Given the description of an element on the screen output the (x, y) to click on. 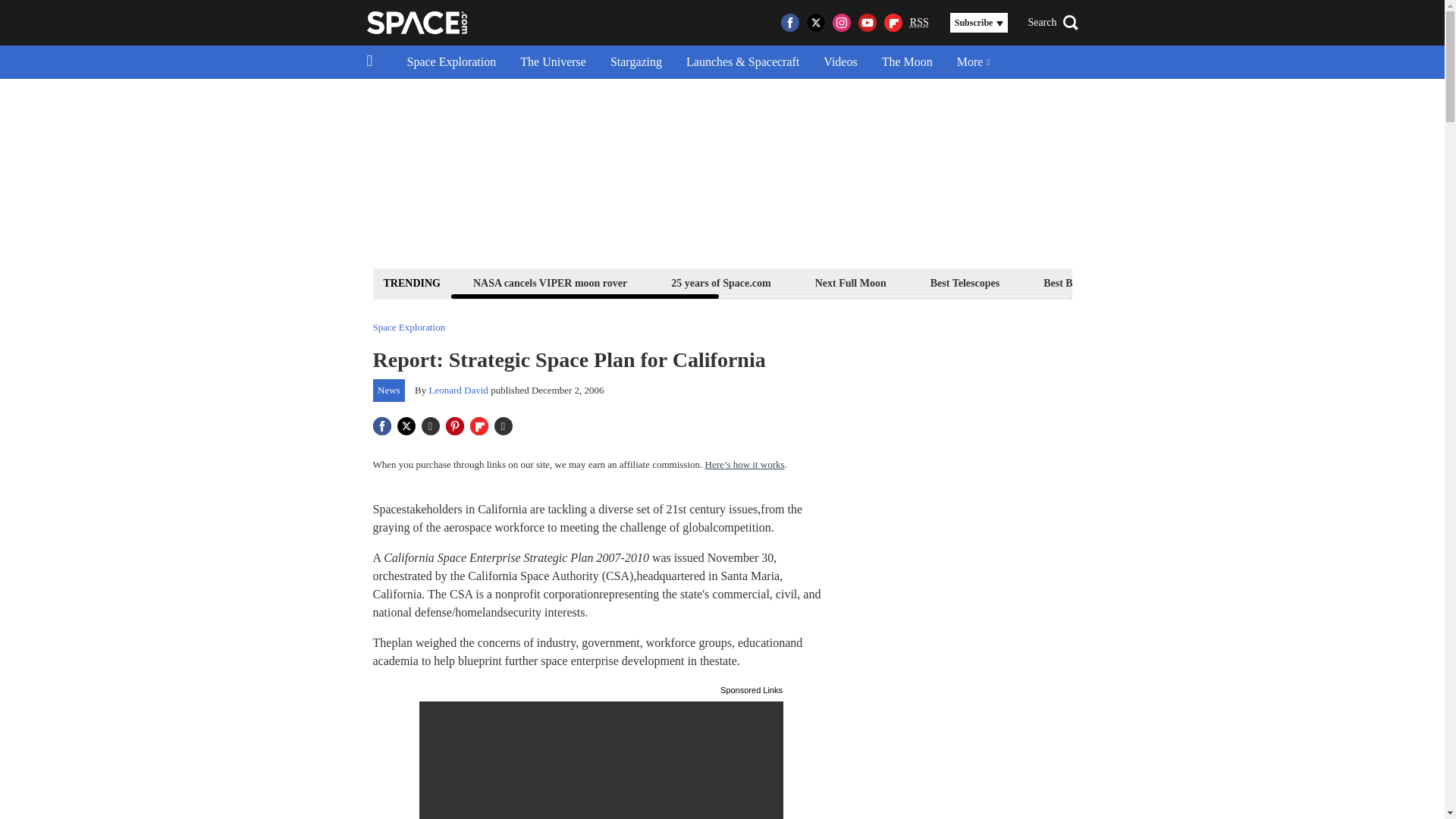
Best Binoculars (1078, 282)
25 years of Space.com (720, 282)
Space Calendar (1329, 282)
Videos (839, 61)
Best Telescopes (964, 282)
If you own a mouse, play it for 1 minute. (601, 760)
The Universe (553, 61)
NASA cancels VIPER moon rover (549, 282)
Stargazing (636, 61)
Best Star Projectors (1204, 282)
Next Full Moon (850, 282)
The Moon (906, 61)
RSS (919, 22)
Really Simple Syndication (919, 21)
Space Exploration (451, 61)
